Given the description of an element on the screen output the (x, y) to click on. 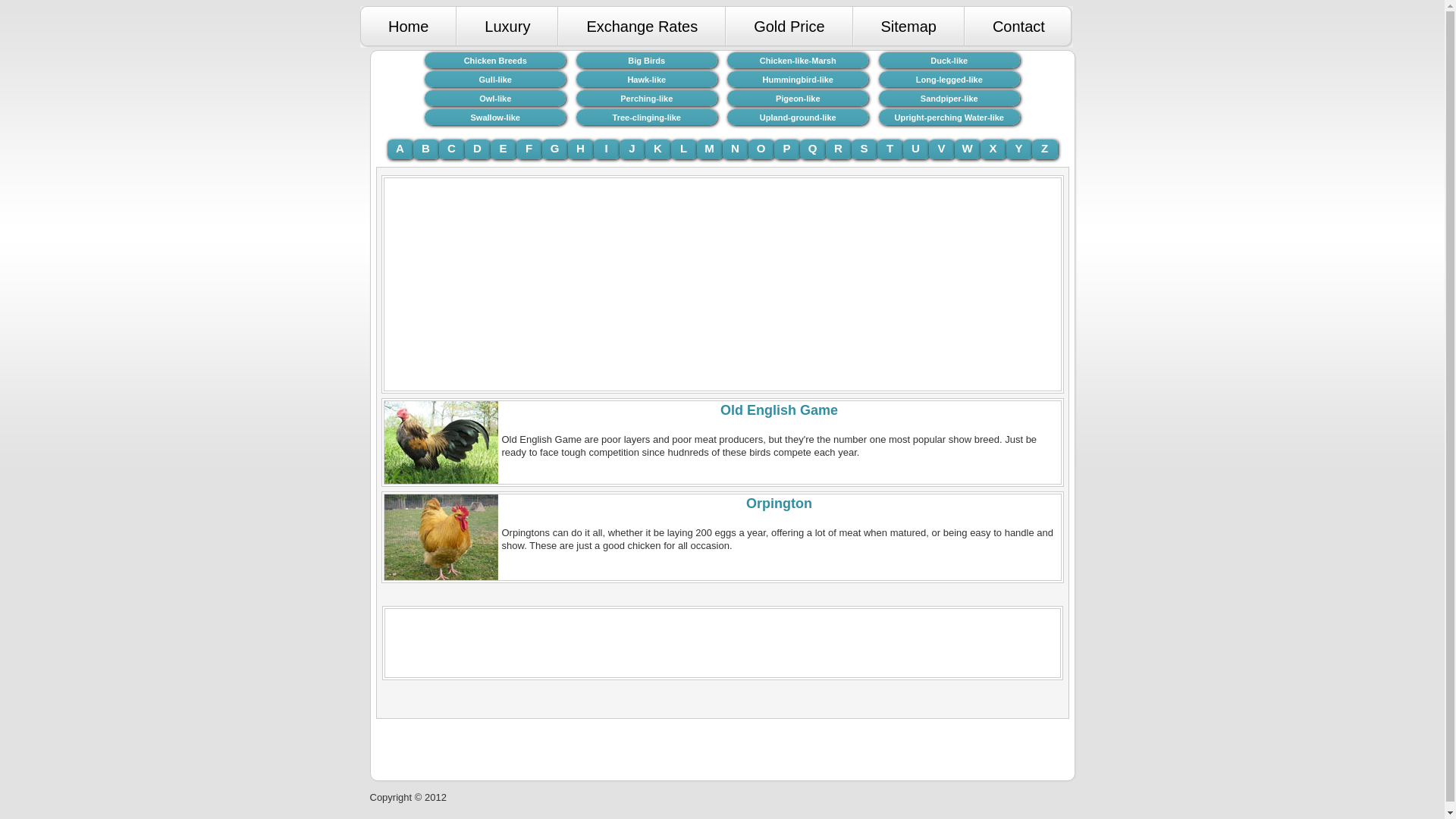
Hummingbird-like (796, 78)
I (605, 148)
Advertisement (721, 643)
J (631, 148)
Tree-clinging-like (646, 116)
Orpington (778, 503)
E (502, 148)
F (528, 148)
Exchange Rates (641, 26)
Old English Game (440, 442)
